Given the description of an element on the screen output the (x, y) to click on. 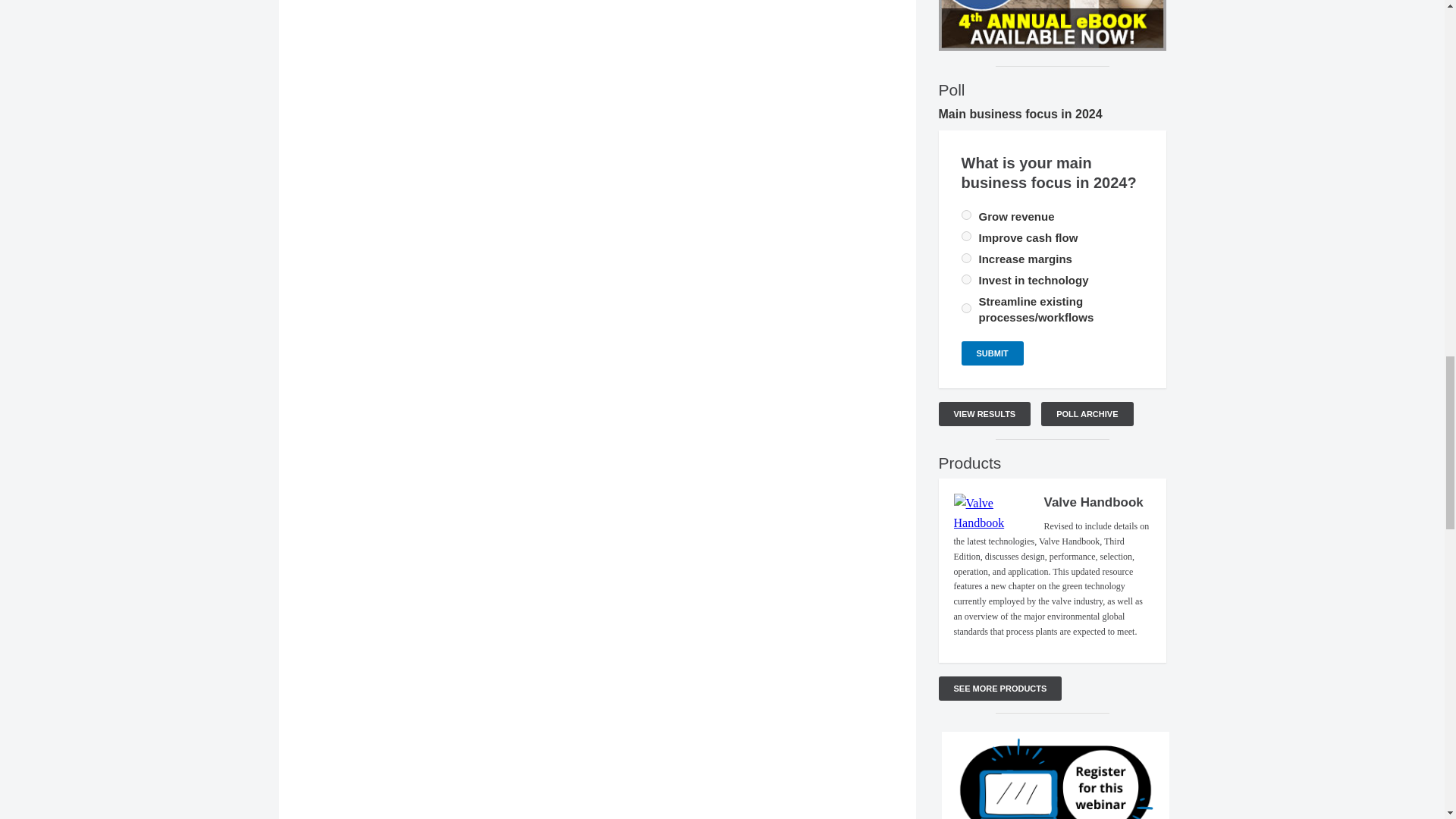
317 (965, 257)
Submit (991, 353)
319 (965, 214)
320 (965, 279)
318 (965, 307)
316 (965, 235)
